Given the description of an element on the screen output the (x, y) to click on. 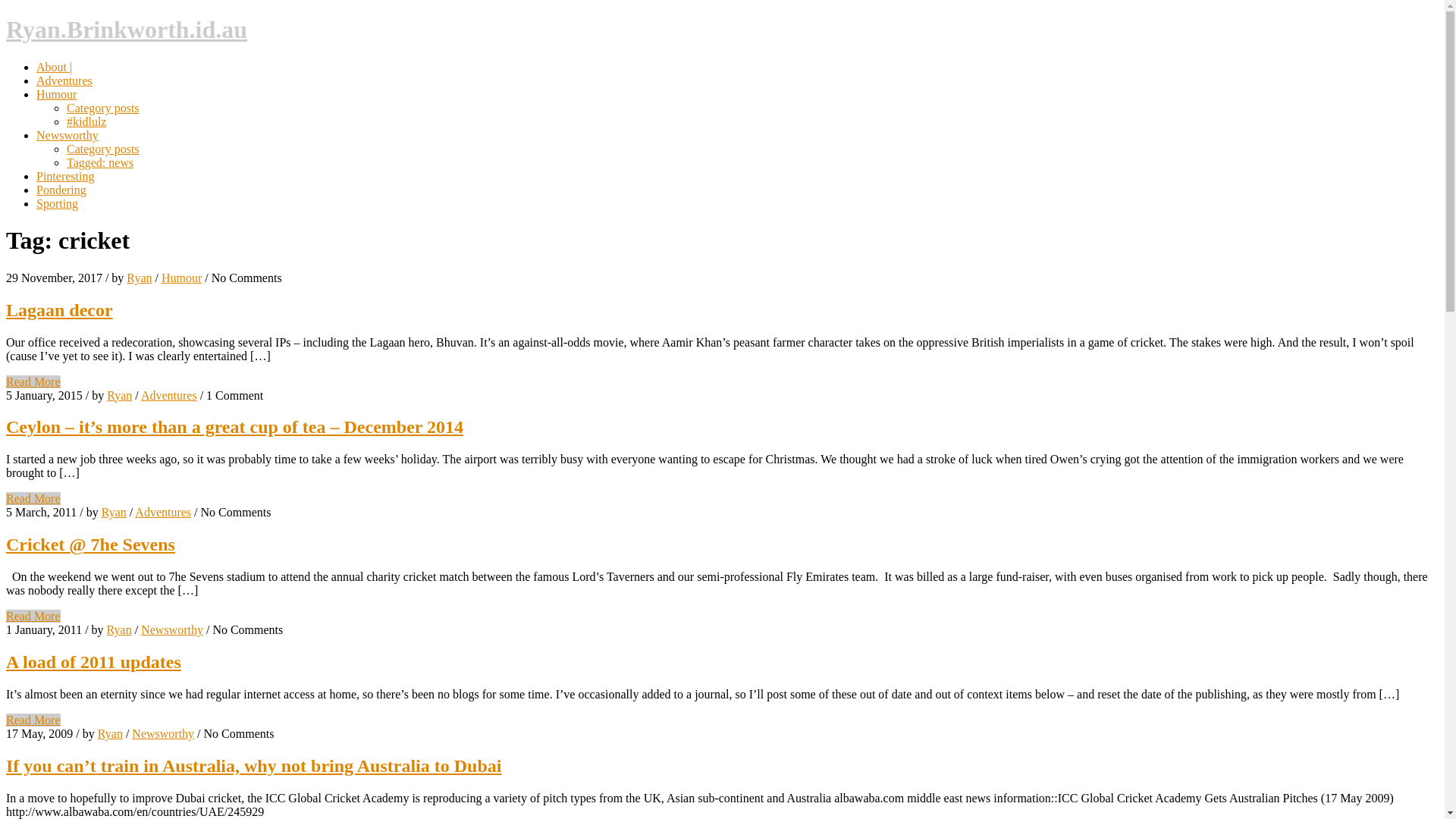
Adventures Element type: text (169, 395)
Ryan Element type: text (113, 511)
Newsworthy Element type: text (162, 733)
Read More Element type: text (33, 381)
Newsworthy Element type: text (67, 134)
Pinteresting Element type: text (65, 175)
Ryan Element type: text (138, 277)
Ryan Element type: text (118, 395)
Read More Element type: text (33, 615)
A load of 2011 updates Element type: text (93, 661)
Read More Element type: text (33, 498)
Humour Element type: text (181, 277)
Sporting Element type: text (57, 203)
About | Element type: text (54, 66)
Lagaan decor Element type: text (59, 310)
Humour Element type: text (56, 93)
Cricket @ 7he Sevens Element type: text (90, 544)
Ryan Element type: text (118, 629)
Read More Element type: text (33, 719)
Adventures Element type: text (64, 80)
Category posts Element type: text (102, 148)
Ryan Element type: text (109, 733)
Adventures Element type: text (162, 511)
Tagged: news Element type: text (99, 162)
Category posts Element type: text (102, 107)
Ryan.Brinkworth.id.au Element type: text (126, 29)
Pondering Element type: text (61, 189)
#kidlulz Element type: text (86, 121)
Newsworthy Element type: text (172, 629)
